Given the description of an element on the screen output the (x, y) to click on. 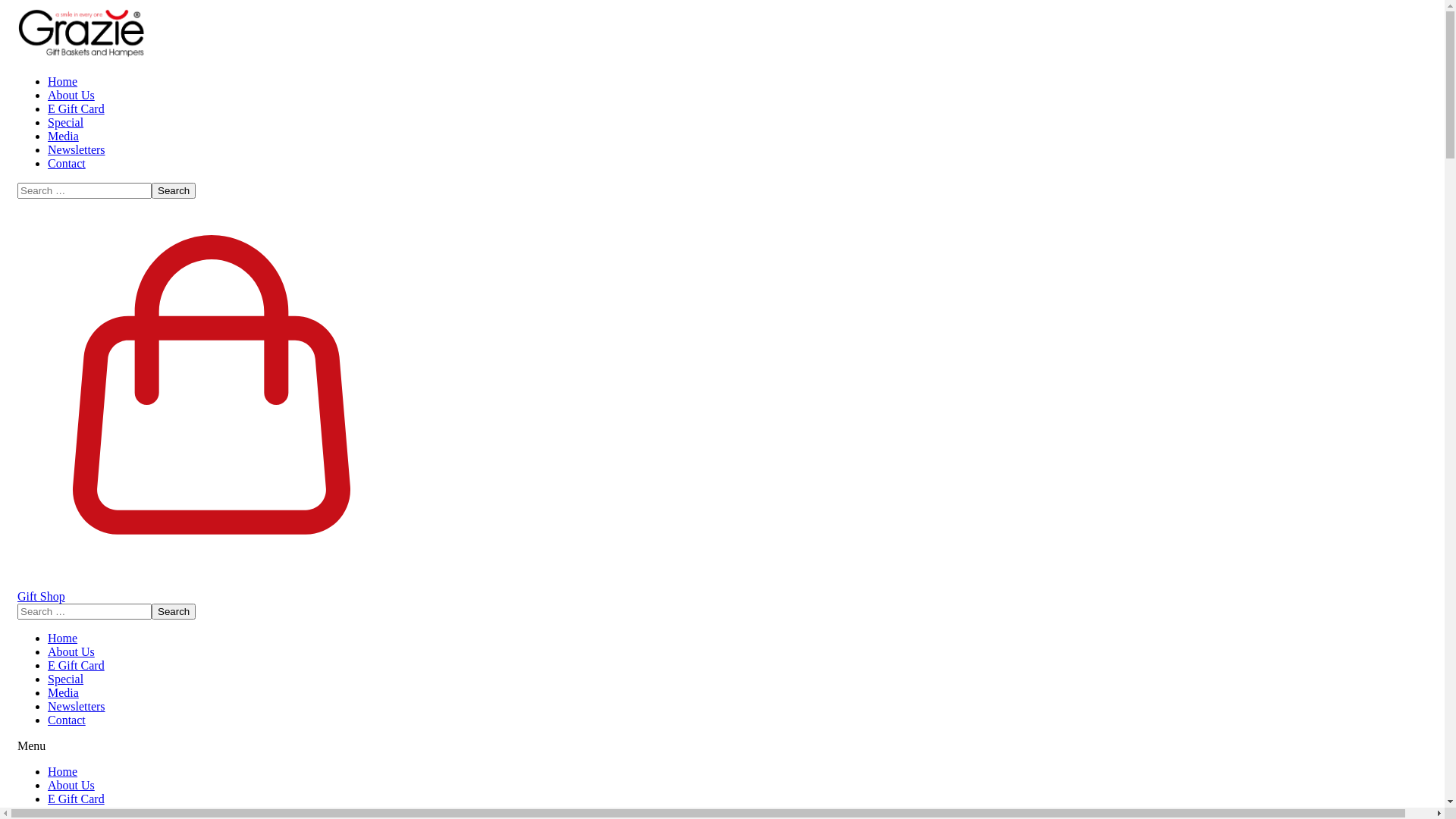
About Us Element type: text (70, 651)
Contact Element type: text (66, 162)
Special Element type: text (65, 122)
Newsletters Element type: text (76, 705)
Home Element type: text (62, 637)
Search Element type: text (173, 190)
Media Element type: text (62, 692)
Contact Element type: text (66, 719)
E Gift Card Element type: text (75, 798)
About Us Element type: text (70, 784)
About Us Element type: text (70, 94)
Newsletters Element type: text (76, 149)
Home Element type: text (62, 771)
Gift Shop Element type: text (722, 596)
E Gift Card Element type: text (75, 108)
Home Element type: text (62, 81)
Search Element type: text (173, 611)
E Gift Card Element type: text (75, 664)
Special Element type: text (65, 678)
Media Element type: text (62, 135)
